Given the description of an element on the screen output the (x, y) to click on. 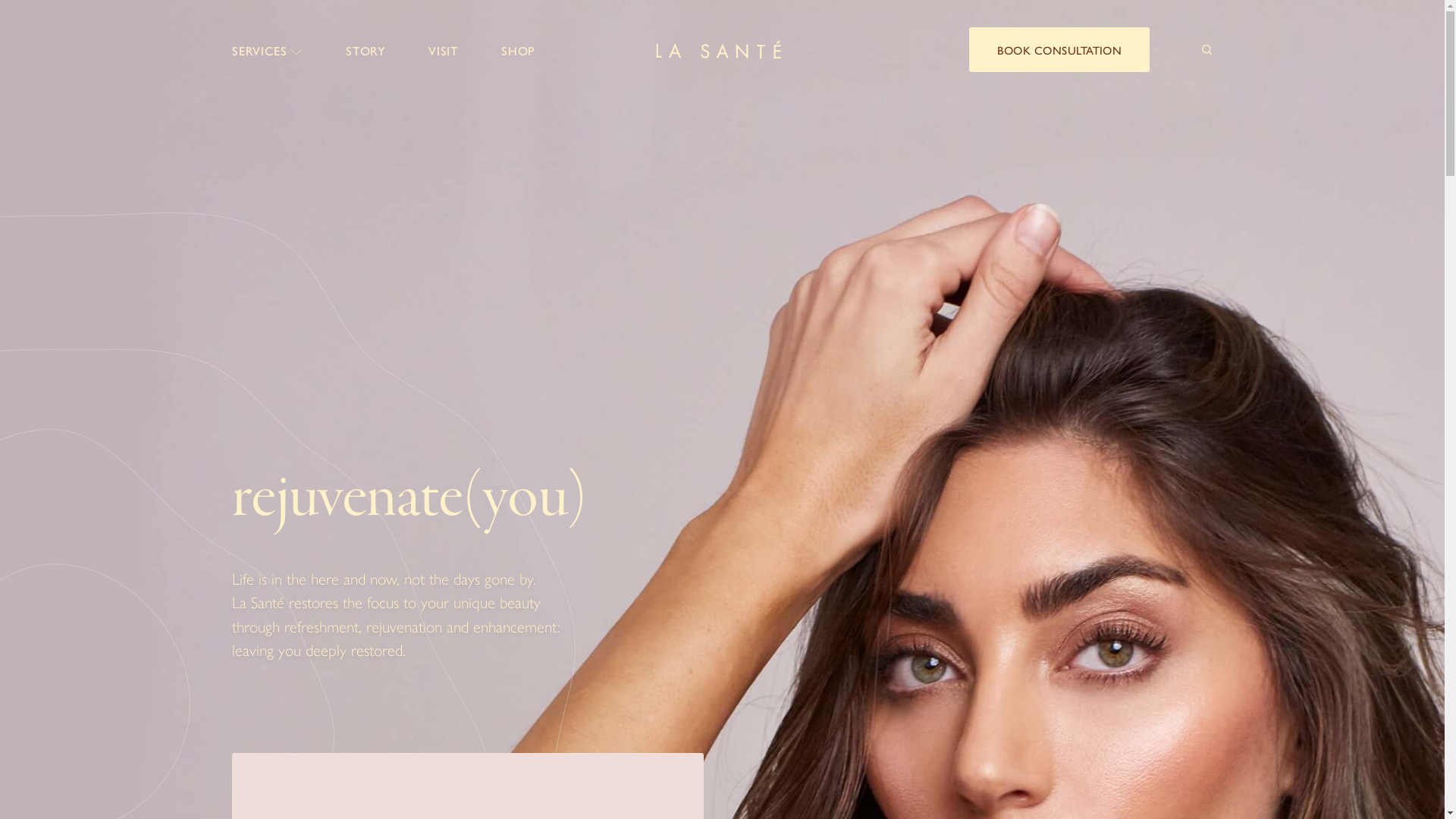
VISIT Element type: text (443, 50)
SHOP Element type: text (518, 50)
BOOK CONSULTATION Element type: text (1059, 49)
SERVICES Element type: text (267, 50)
STORY Element type: text (365, 50)
